Given the description of an element on the screen output the (x, y) to click on. 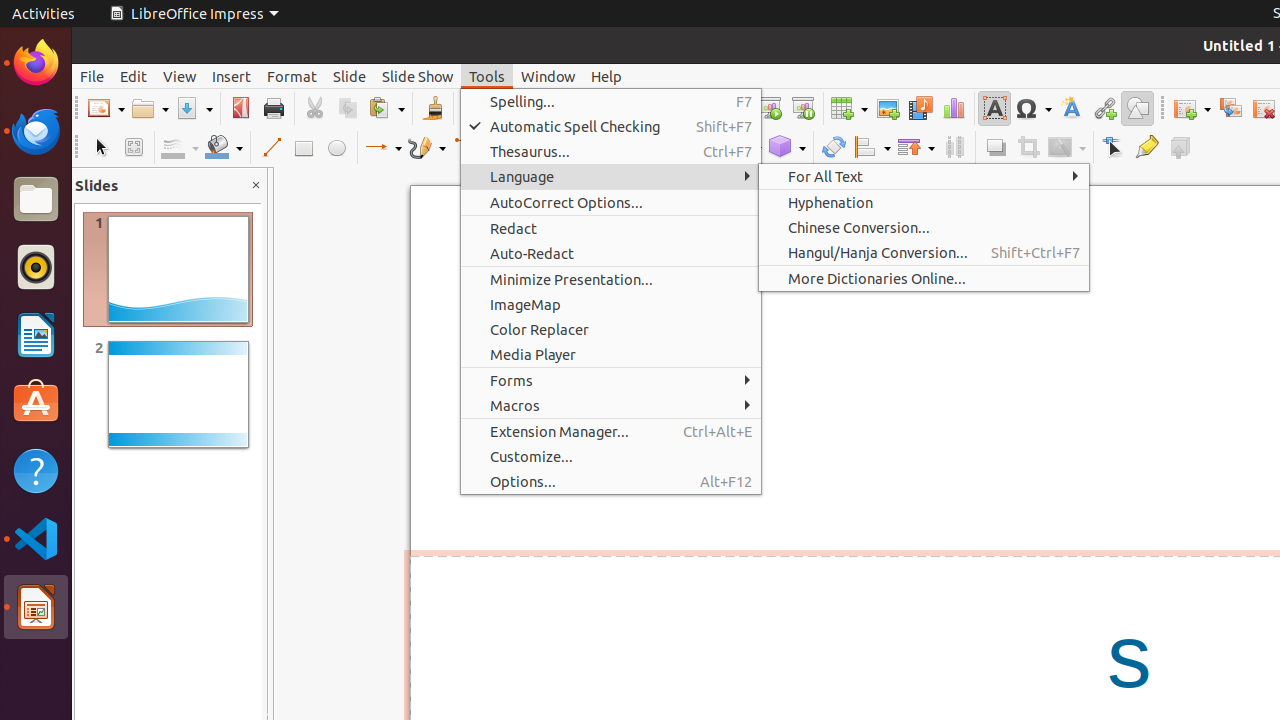
Rhythmbox Element type: push-button (36, 267)
